Given the description of an element on the screen output the (x, y) to click on. 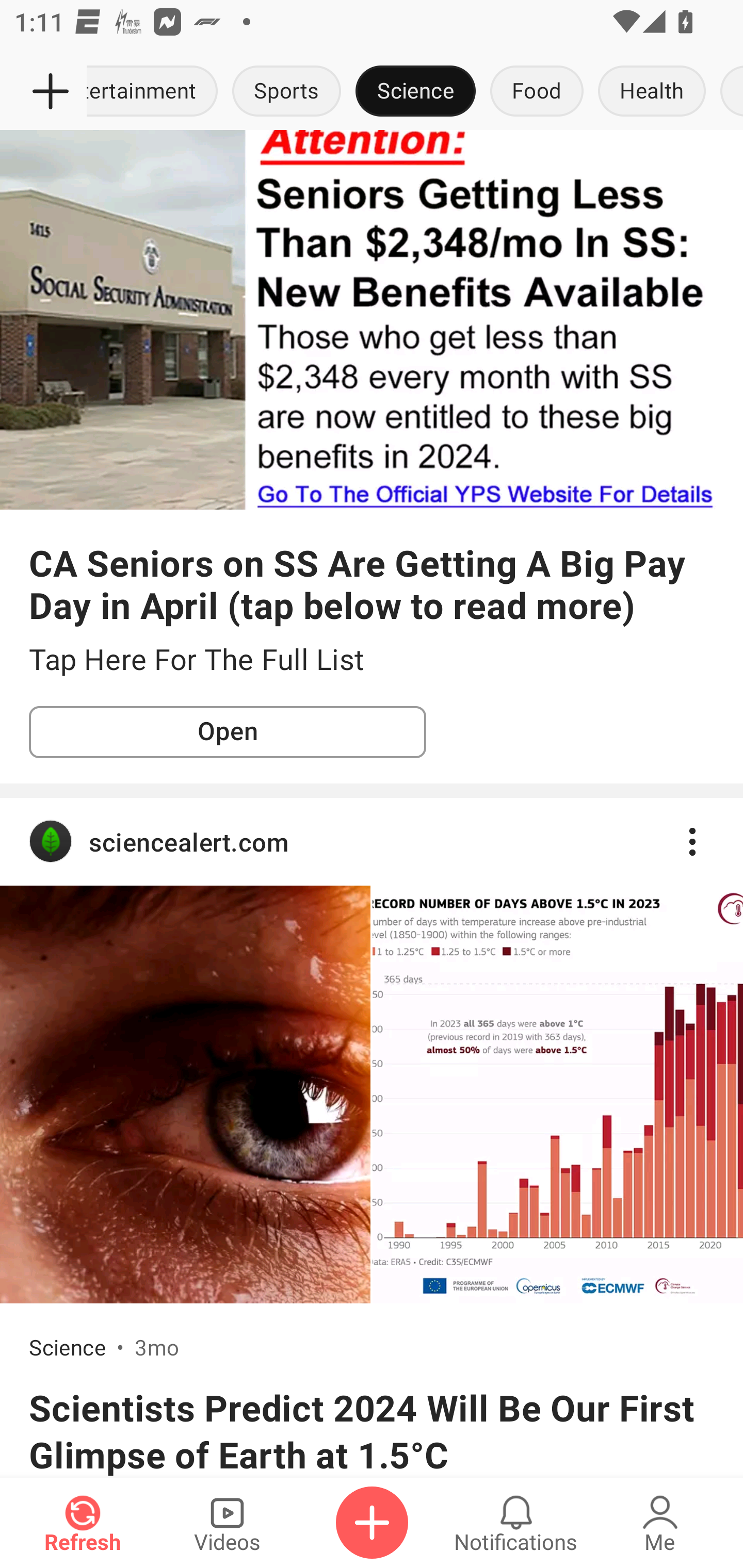
Entertainment (155, 91)
Sports (286, 91)
Science (415, 91)
Food (536, 91)
Health (651, 91)
Tap Here For The Full List (371, 659)
Open (227, 731)
sciencealert.com (371, 841)
Videos (227, 1522)
Notifications (516, 1522)
Me (659, 1522)
